Given the description of an element on the screen output the (x, y) to click on. 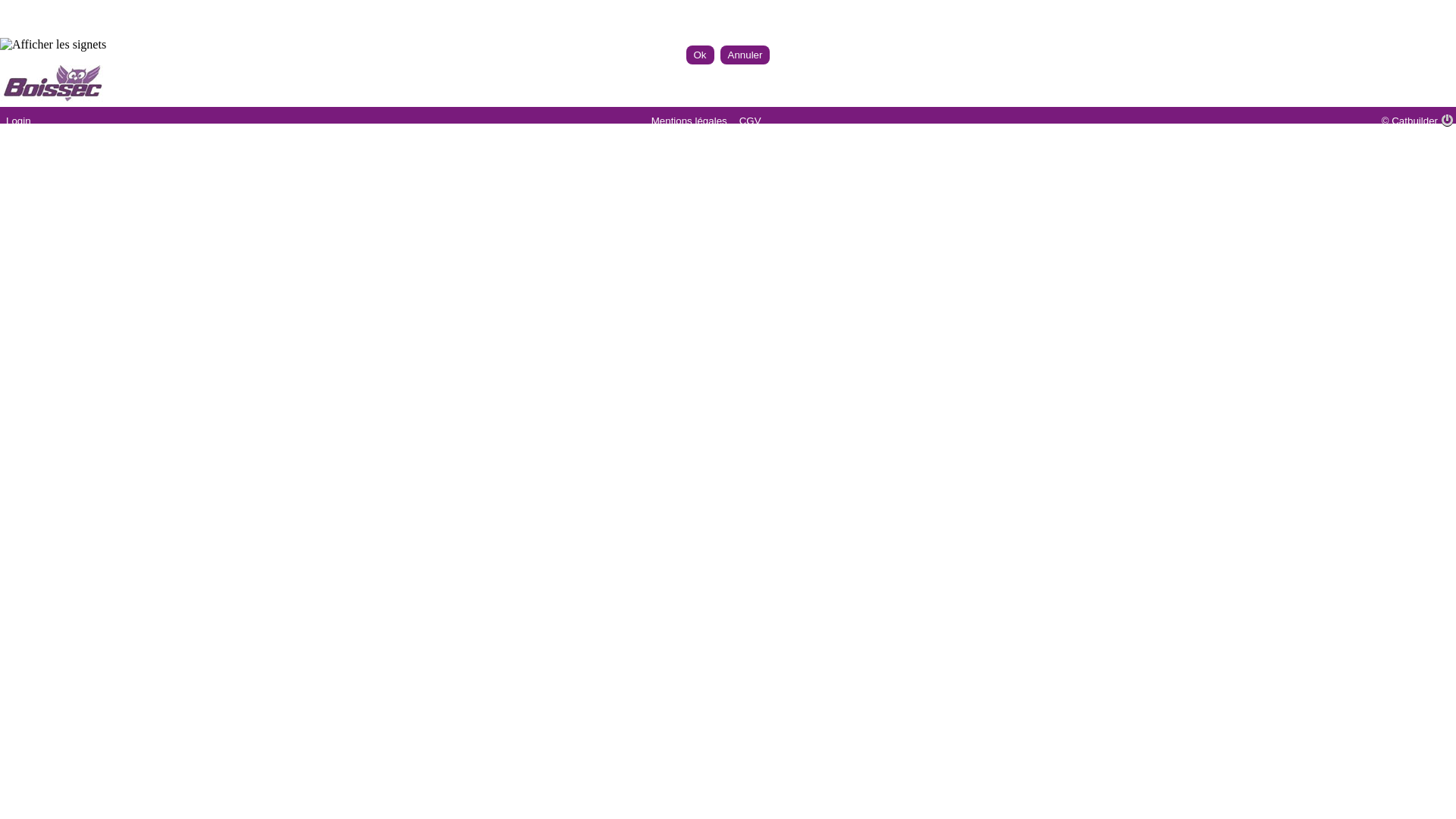
Annuler Element type: text (745, 54)
Login Element type: text (18, 120)
CGV Element type: text (750, 120)
Afficher les signets Element type: hover (53, 44)
Ok Element type: text (699, 54)
